Given the description of an element on the screen output the (x, y) to click on. 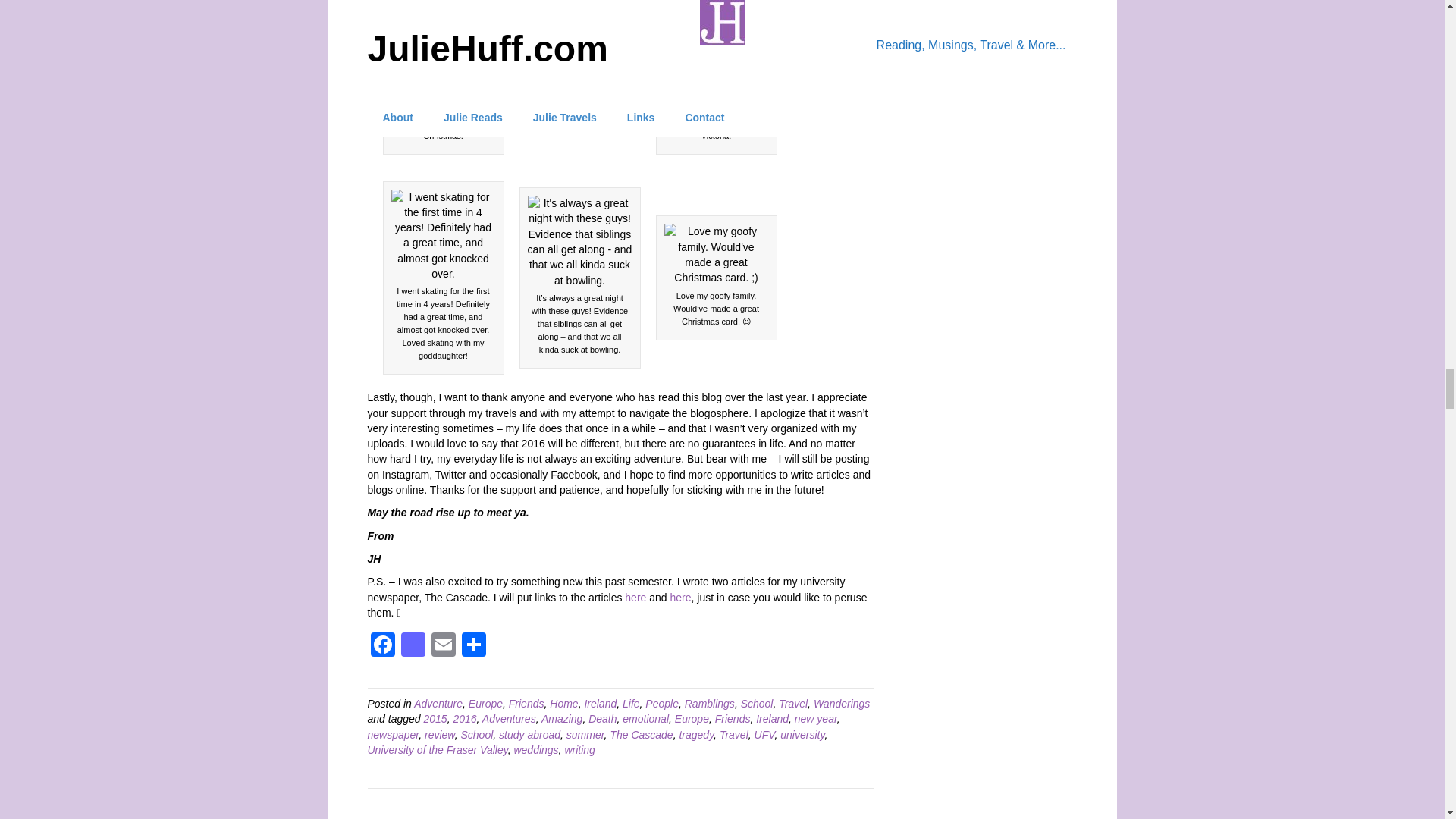
Facebook (381, 646)
Mastodon (412, 646)
Email (443, 646)
